Given the description of an element on the screen output the (x, y) to click on. 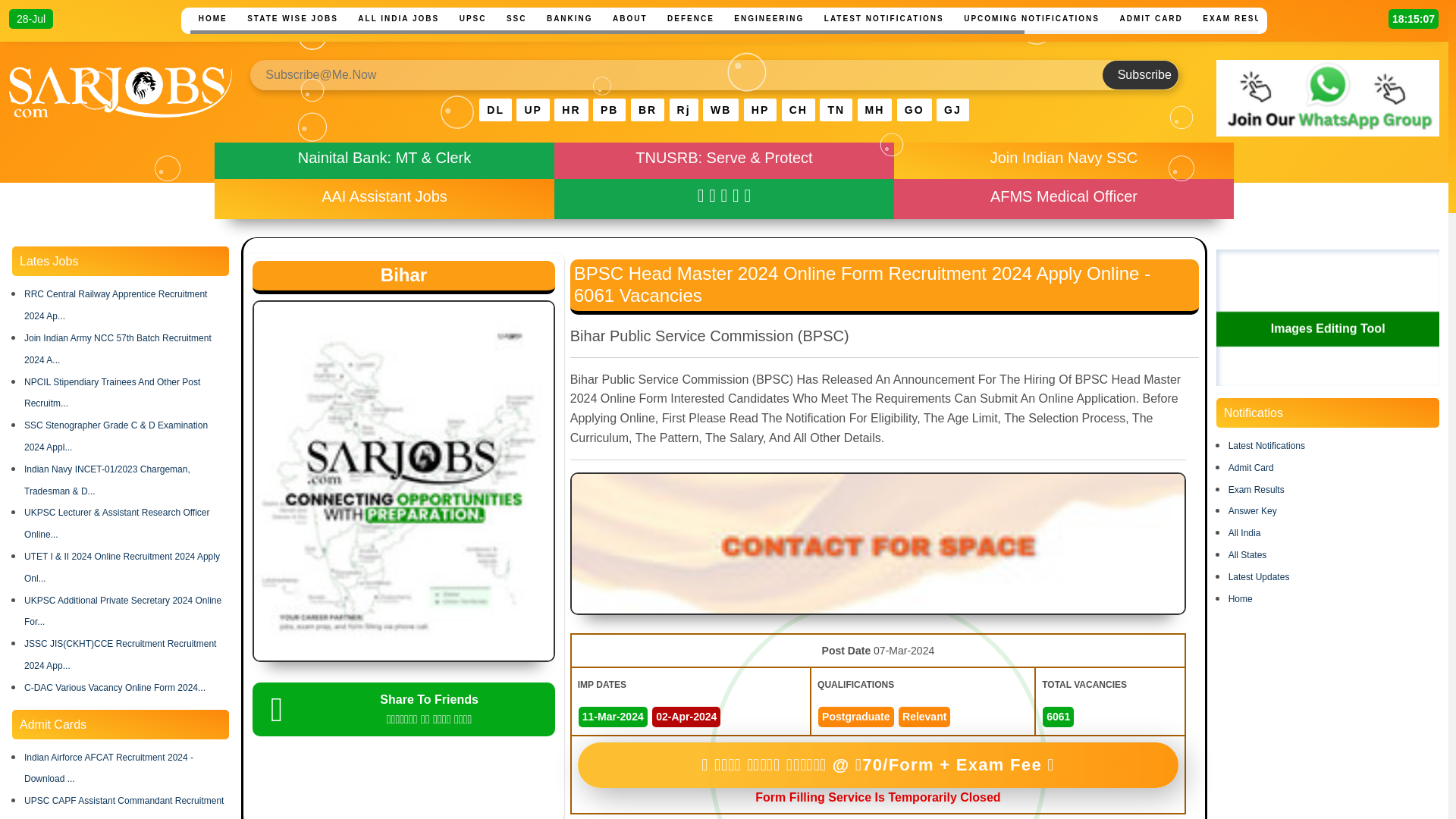
GO (913, 109)
UPCOMING NOTIFICATIONS (1031, 18)
HP (760, 109)
STATE WISE JOBS (293, 18)
Join Indian Navy SSC (1064, 157)
WB (720, 109)
ENGINEERING (768, 18)
HR (571, 109)
LATEST NOTIFICATIONS (884, 18)
DEFENCE (690, 18)
BANKING (568, 18)
ADMIT CARD (1150, 18)
DL (495, 109)
TEACHING JOBS (1334, 18)
Rj (683, 109)
